Given the description of an element on the screen output the (x, y) to click on. 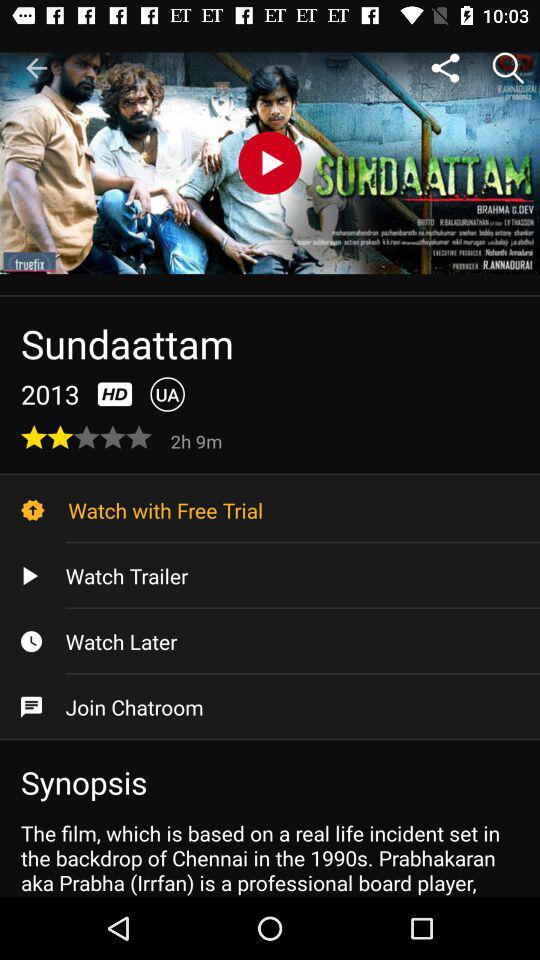
launch the icon below watch trailer icon (270, 641)
